Given the description of an element on the screen output the (x, y) to click on. 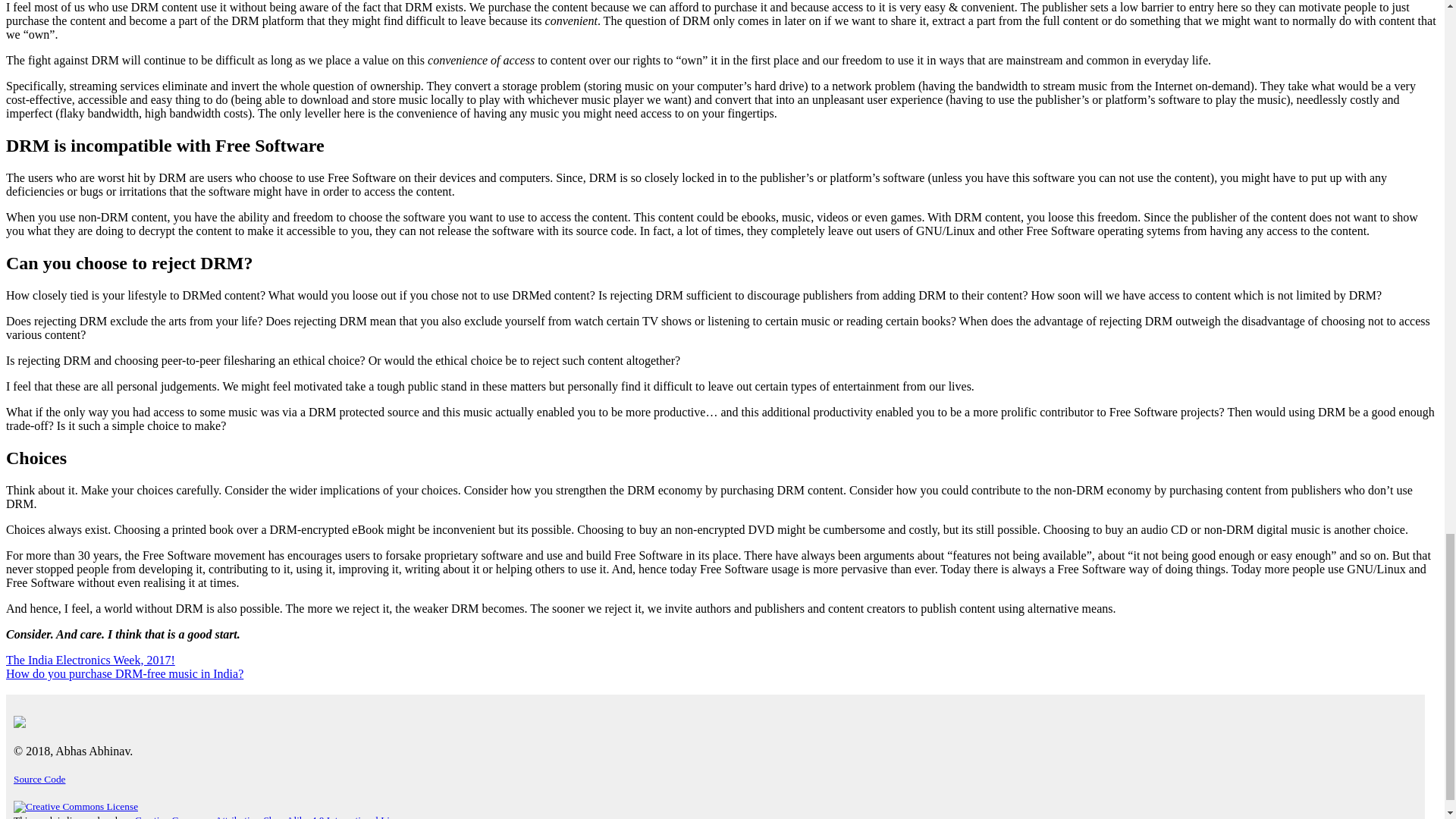
Source Code (39, 778)
The India Electronics Week, 2017! (89, 659)
How do you purchase DRM-free music in India? (124, 673)
